Given the description of an element on the screen output the (x, y) to click on. 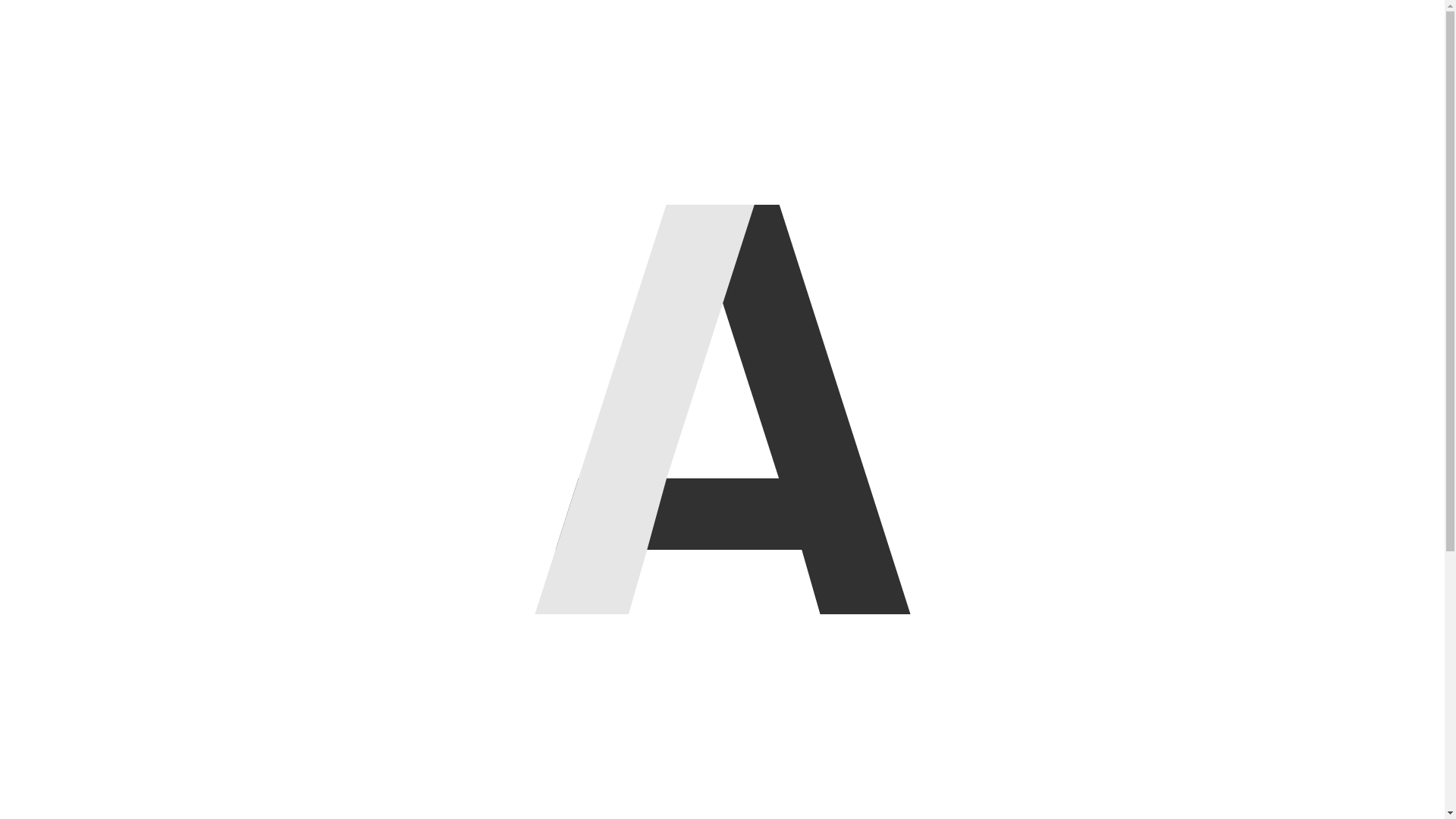
arbeiten@barkarchitekten.ch Element type: text (698, 628)
www.barkarchitekten.ch Element type: text (684, 646)
Map Element type: text (1130, 540)
arbeiten@barkarchitekten.ch Element type: text (977, 471)
PDF Element type: text (1130, 567)
056 631 46 40 Element type: text (673, 595)
